Given the description of an element on the screen output the (x, y) to click on. 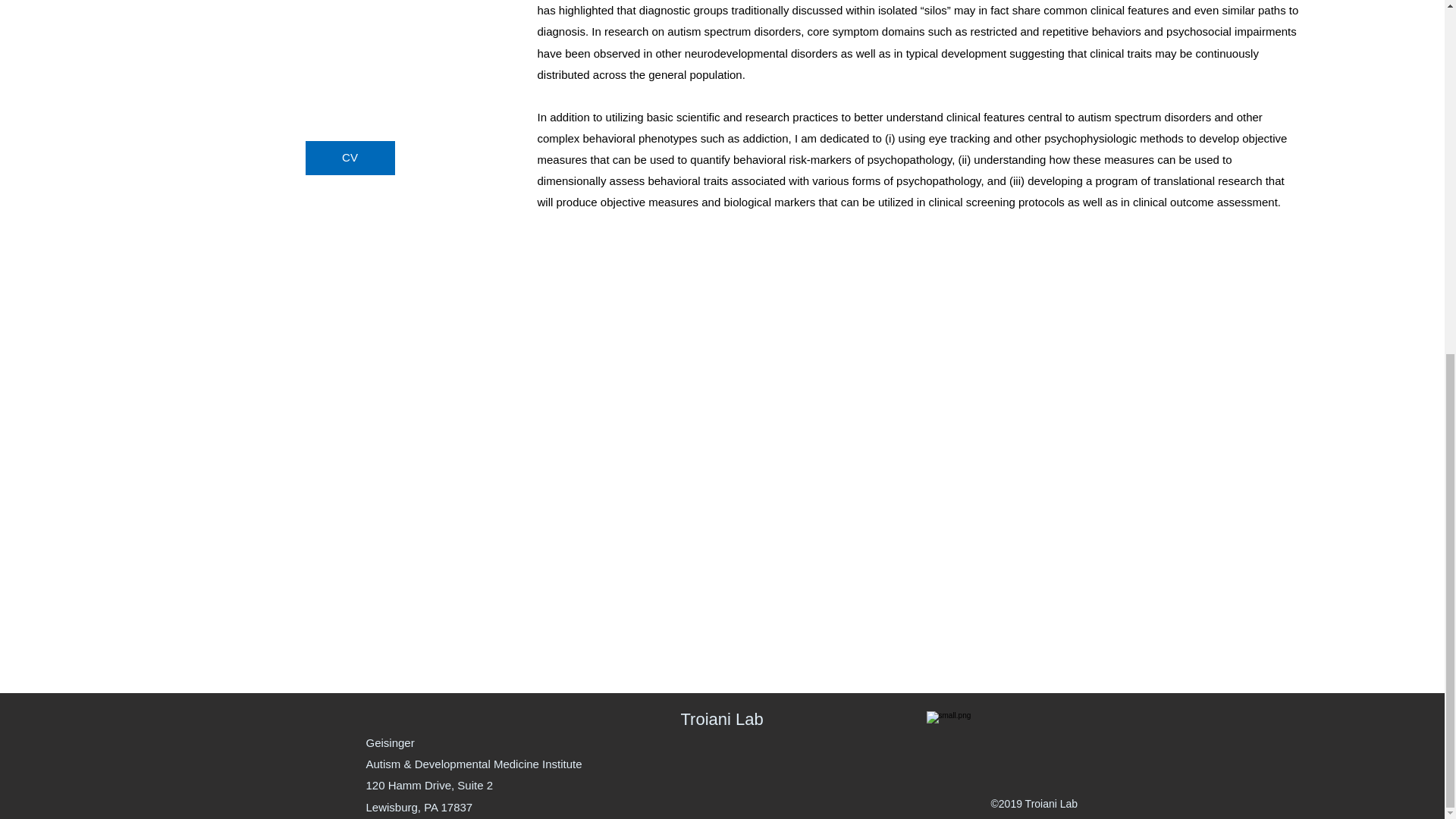
CV (349, 157)
Troiani Lab (721, 719)
Geisinger (389, 742)
